Given the description of an element on the screen output the (x, y) to click on. 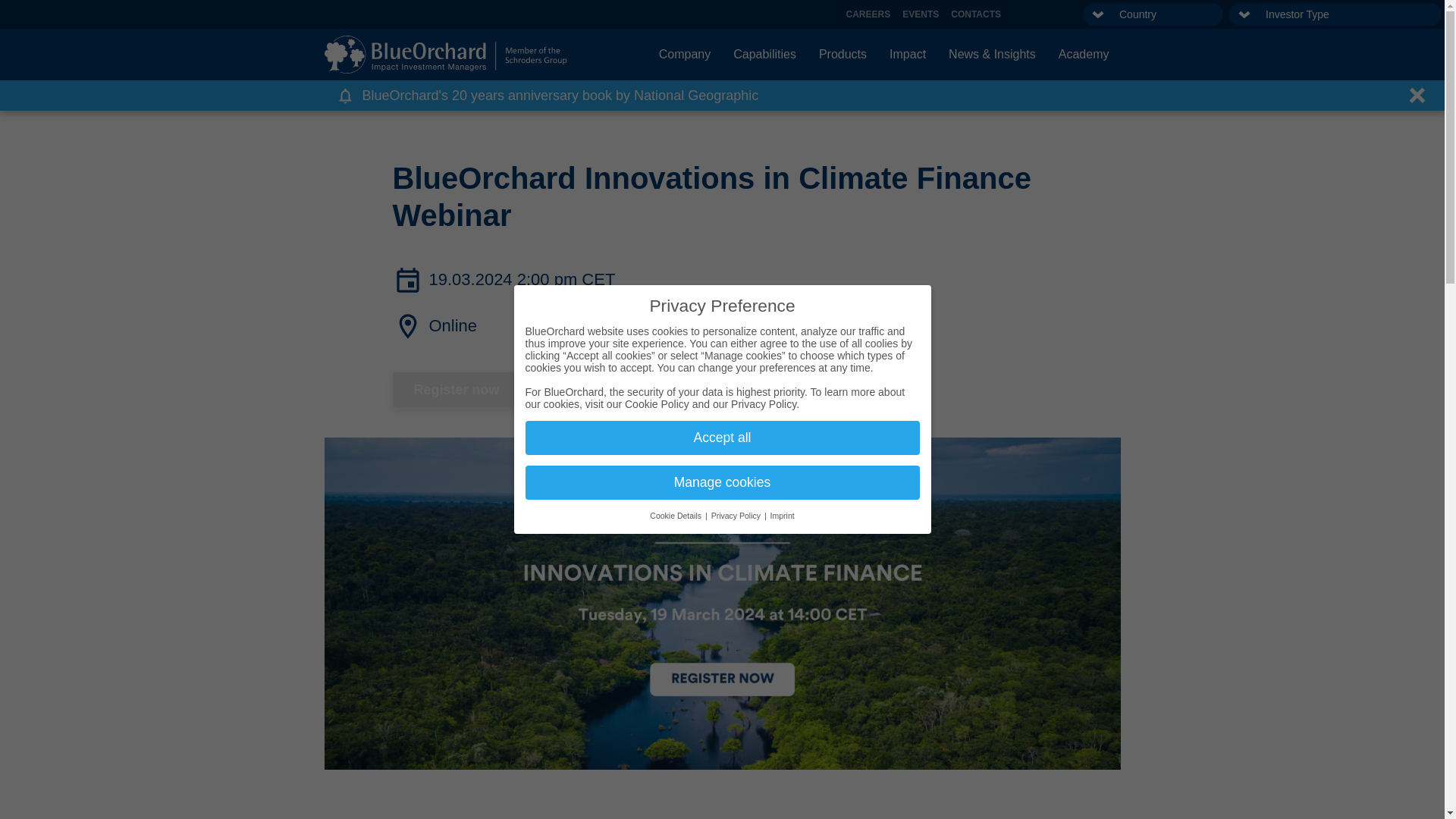
Company (684, 54)
Capabilities (765, 54)
Academy (1083, 54)
CONTACTS (975, 13)
EVENTS (920, 13)
Impact (907, 54)
CAREERS (868, 13)
Products (842, 54)
Register now (457, 389)
